Given the description of an element on the screen output the (x, y) to click on. 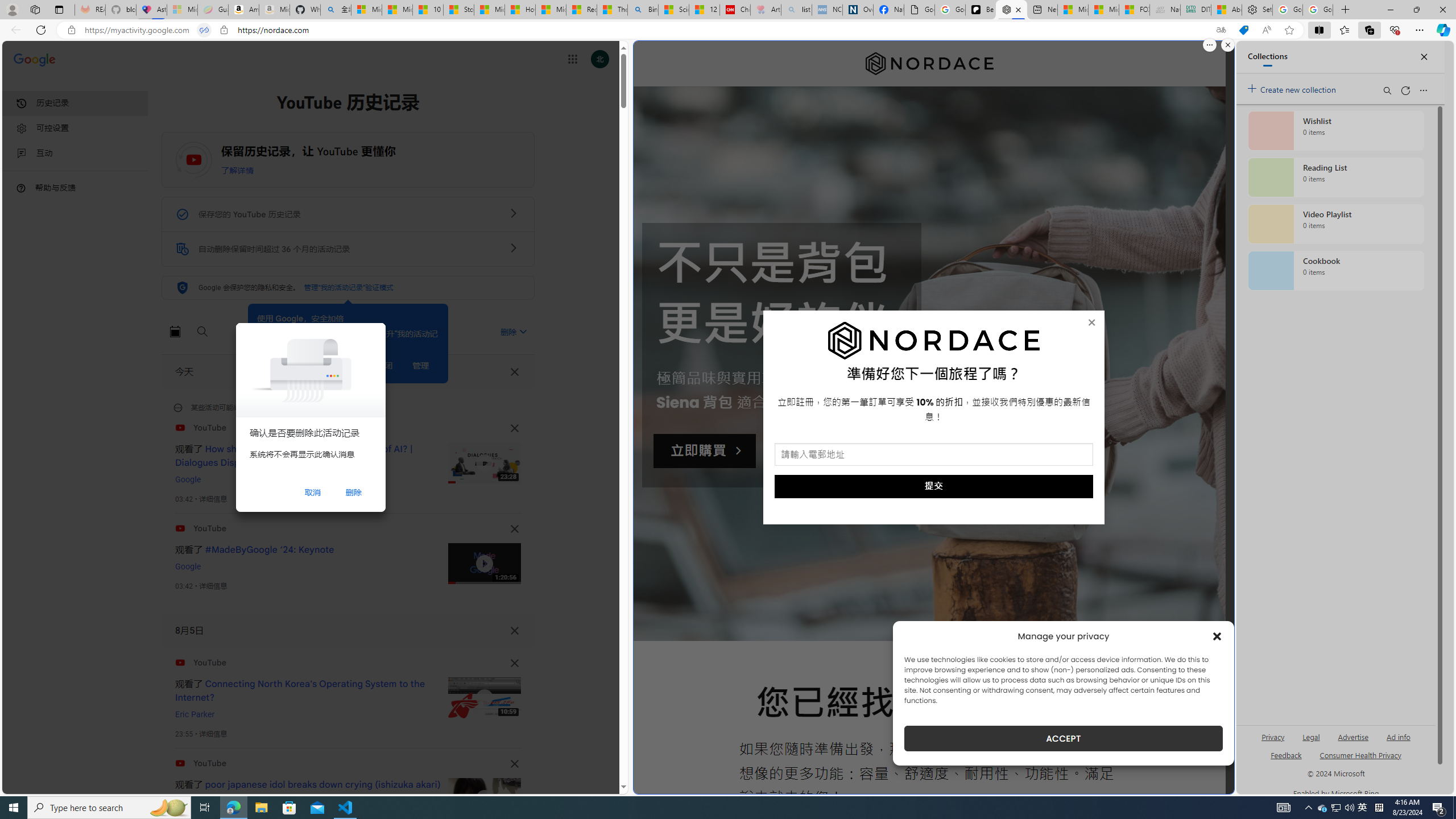
More options. (1209, 45)
